Given the description of an element on the screen output the (x, y) to click on. 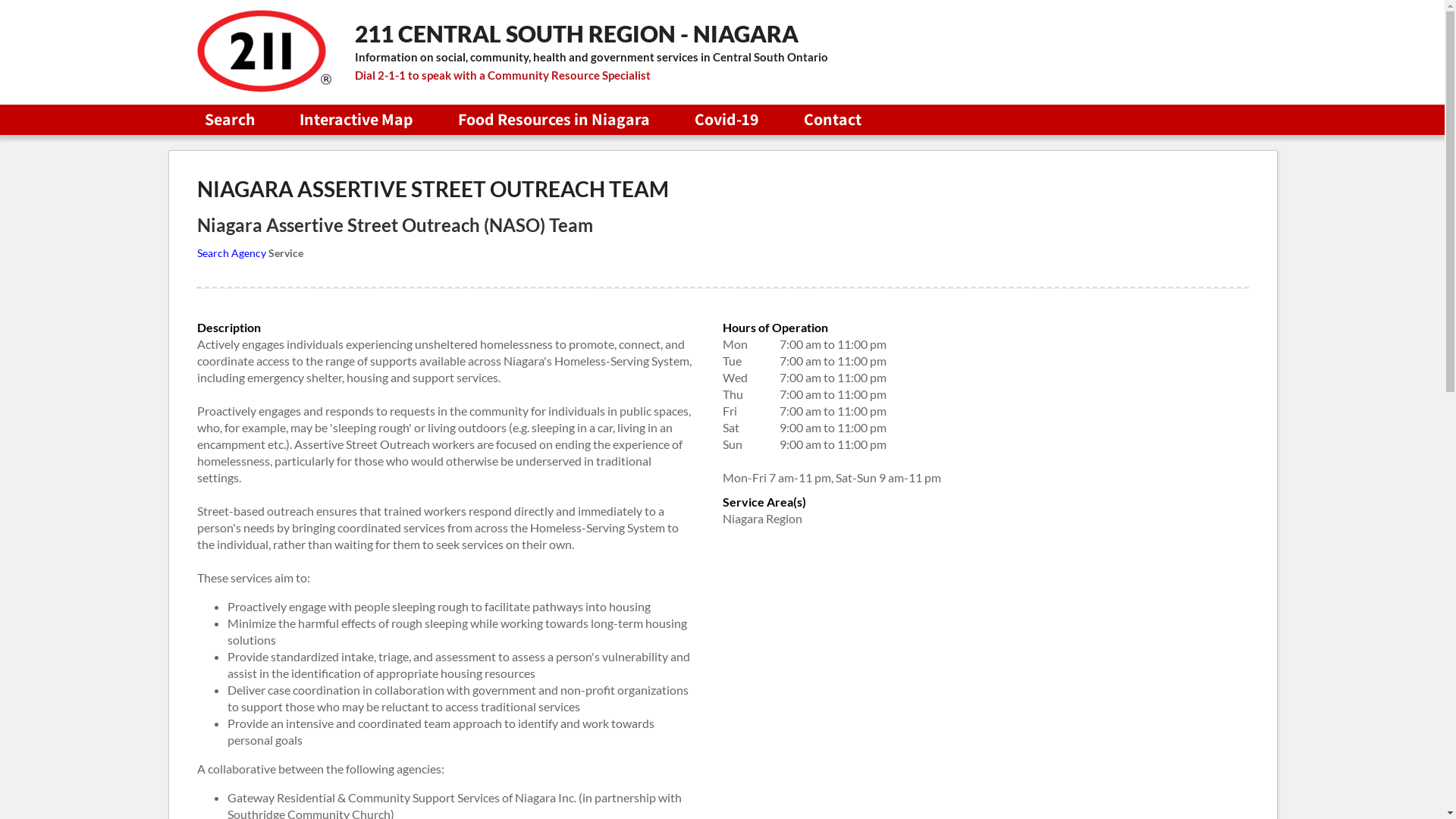
Interactive Map Element type: text (356, 118)
Agency Element type: text (248, 252)
Covid-19 Element type: text (726, 118)
Search Element type: text (213, 252)
Food Resources in Niagara Element type: text (553, 118)
Contact Element type: text (832, 118)
Search Element type: text (229, 118)
